Given the description of an element on the screen output the (x, y) to click on. 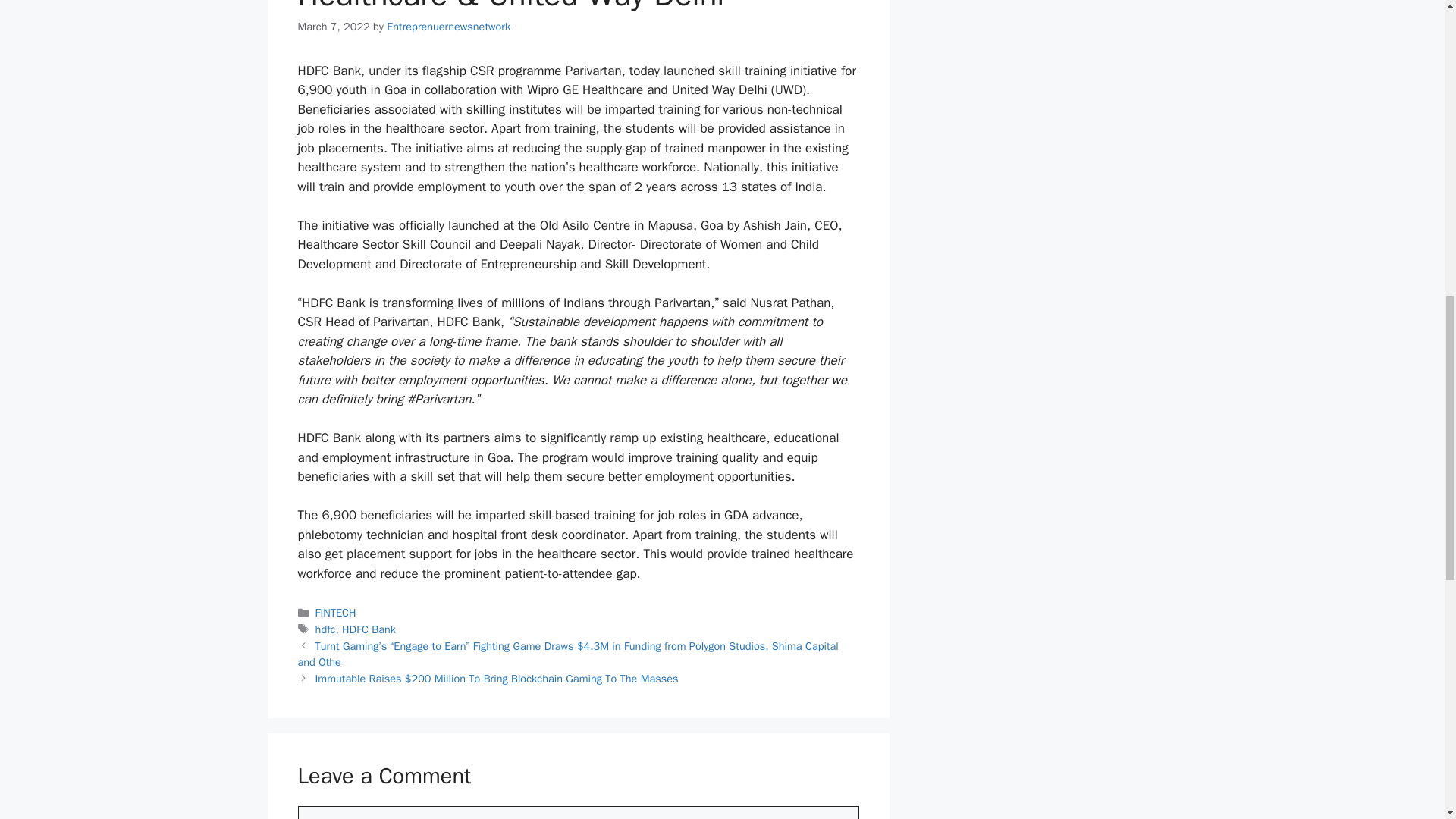
View all posts by Entreprenuernewsnetwork (449, 26)
